Given the description of an element on the screen output the (x, y) to click on. 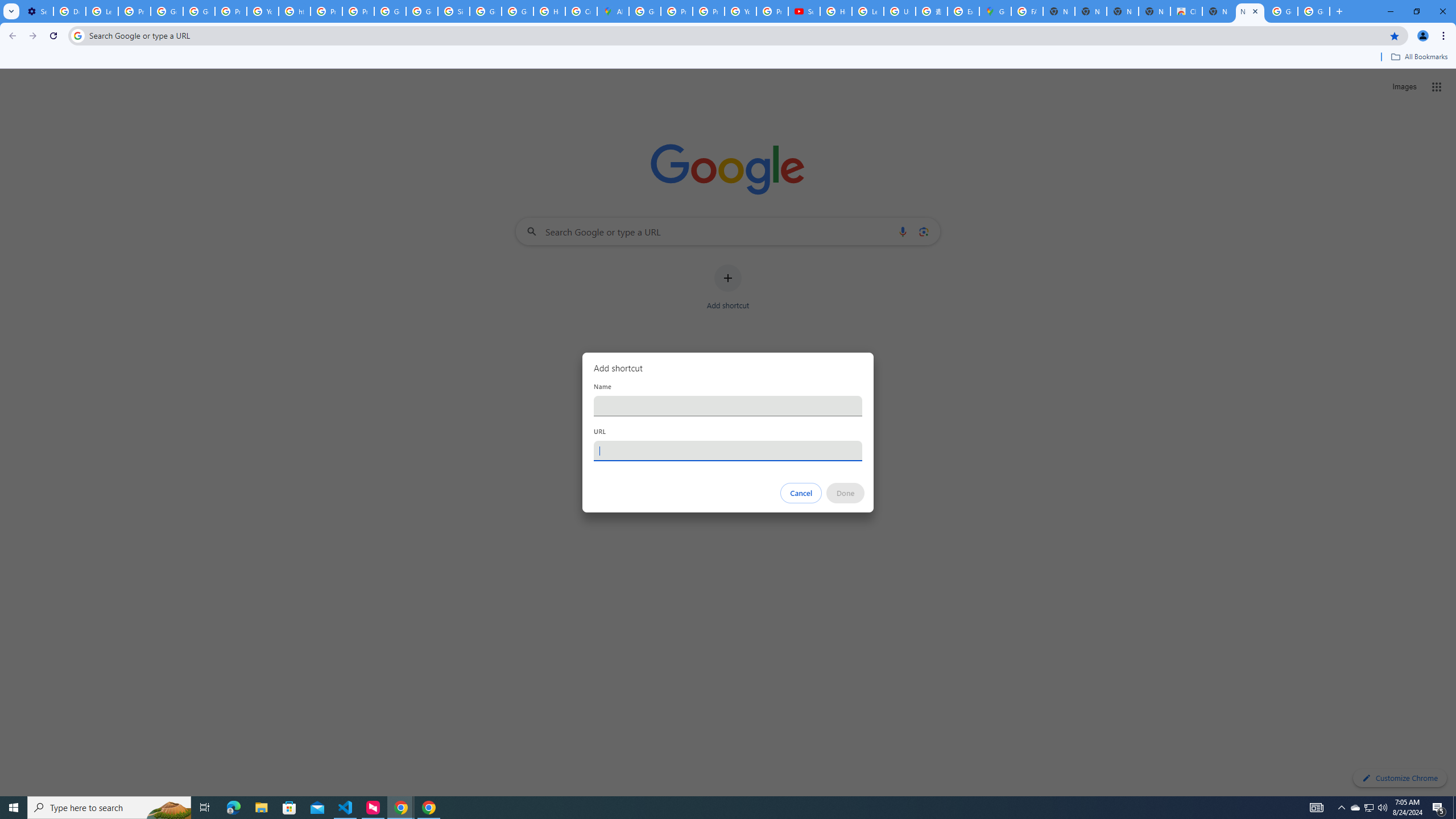
Create your Google Account (581, 11)
YouTube (740, 11)
Cancel (801, 493)
Name (727, 405)
Done (845, 493)
